Given the description of an element on the screen output the (x, y) to click on. 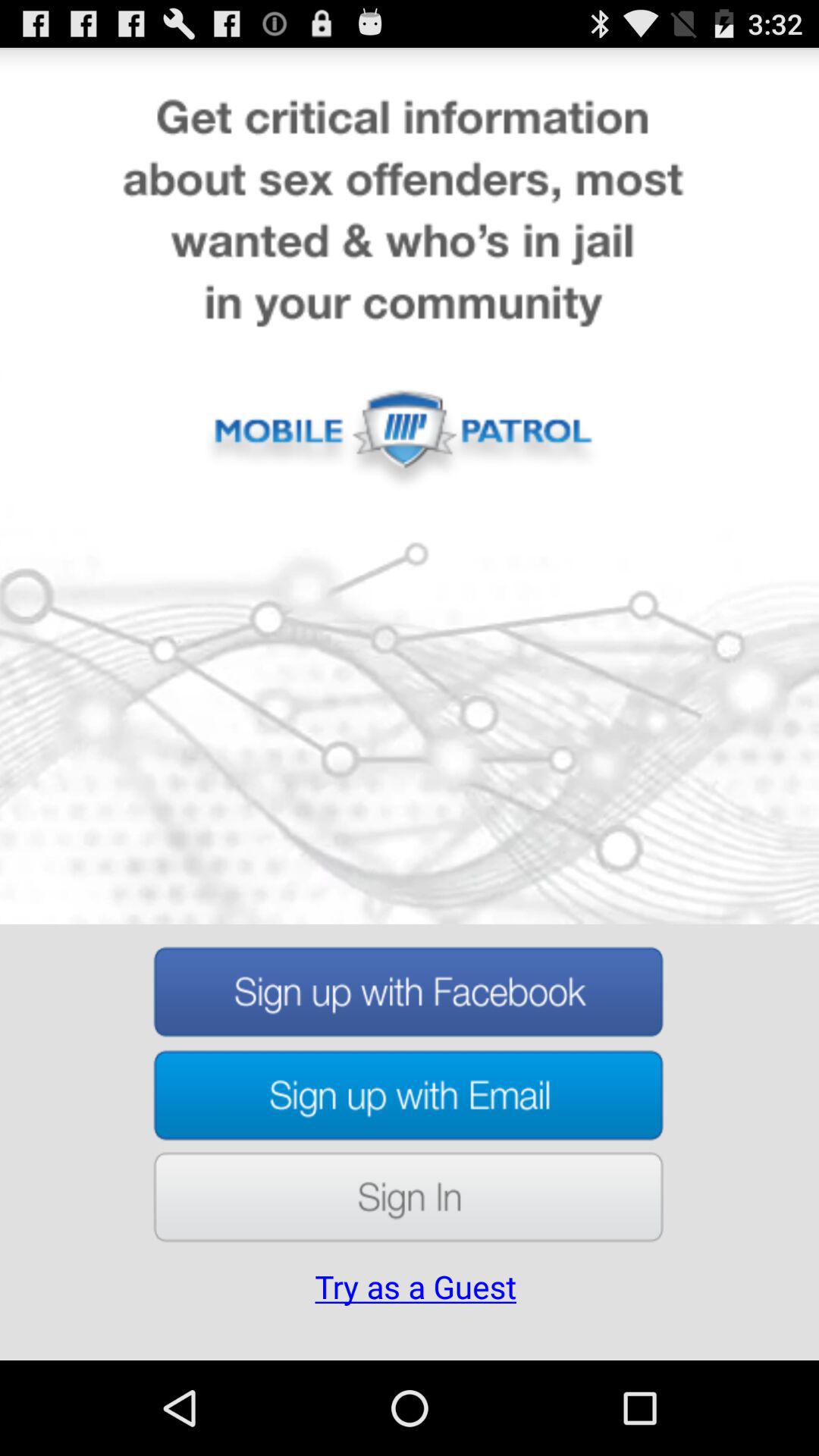
choose the try as a (415, 1308)
